Given the description of an element on the screen output the (x, y) to click on. 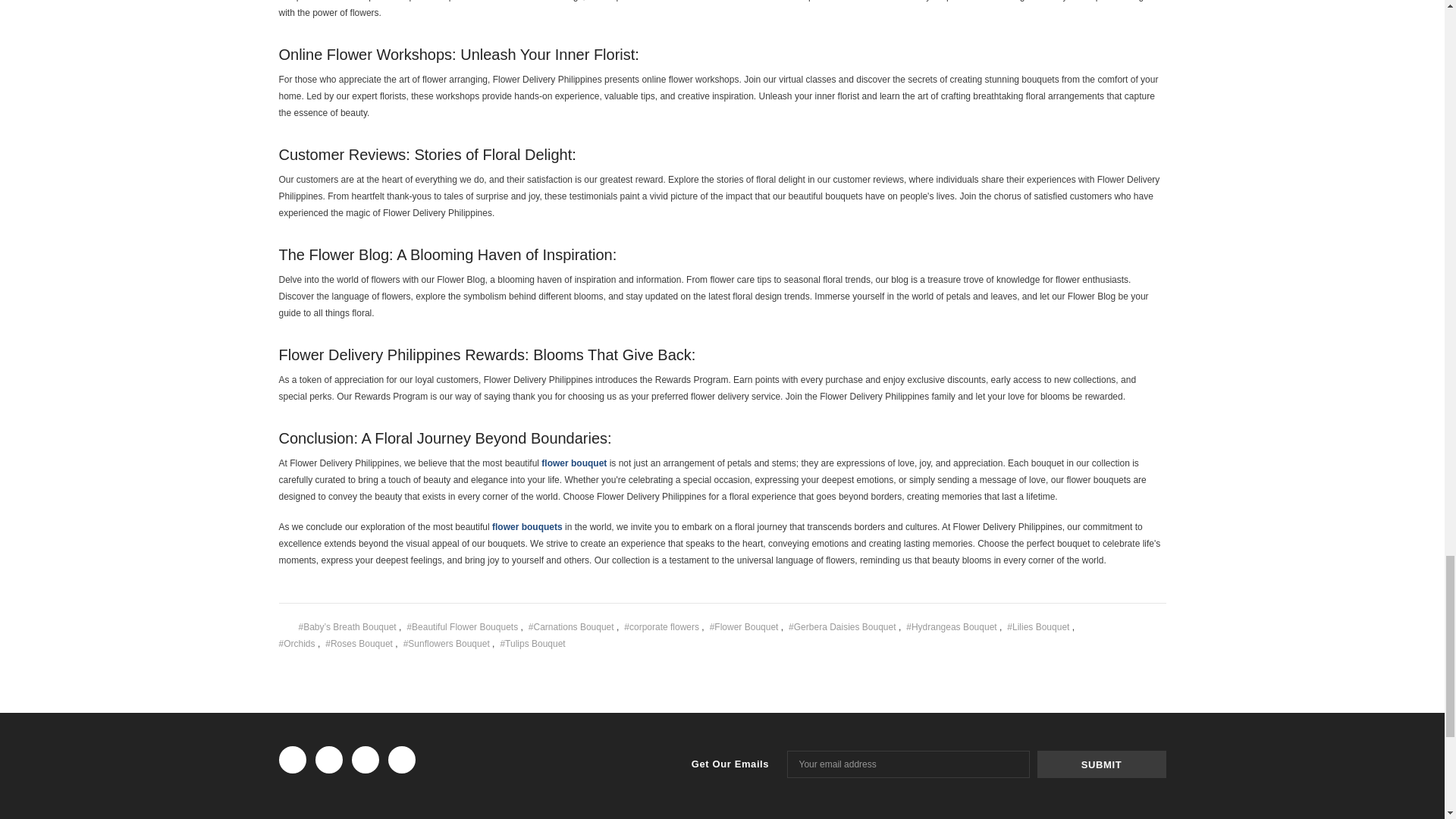
Twitter (1094, 641)
Email (1118, 624)
Submit (1101, 764)
Print (1139, 624)
Facebook (1094, 624)
Pinterest (1118, 641)
